Given the description of an element on the screen output the (x, y) to click on. 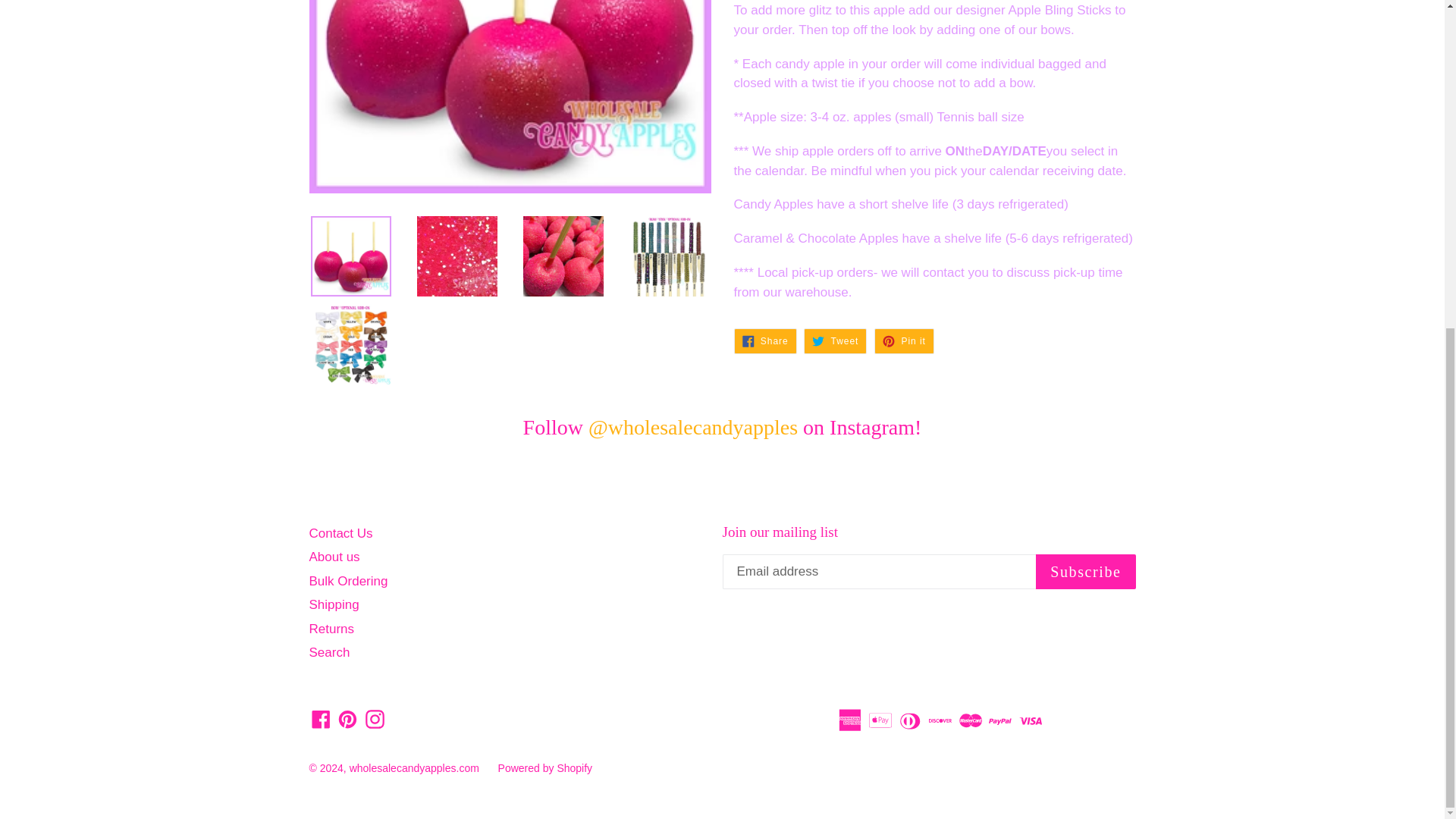
Search (329, 652)
Contact Us (764, 340)
About us (340, 533)
Bulk Ordering (333, 556)
wholesalecandyapples.com on Pinterest (348, 581)
Pin on Pinterest (347, 718)
Share on Facebook (904, 340)
Subscribe (764, 340)
Tweet on Twitter (1085, 571)
Returns (834, 340)
wholesalecandyapples.com on Facebook (331, 628)
wholesalecandyapples.com on Instagram (320, 718)
Shipping (834, 340)
